Given the description of an element on the screen output the (x, y) to click on. 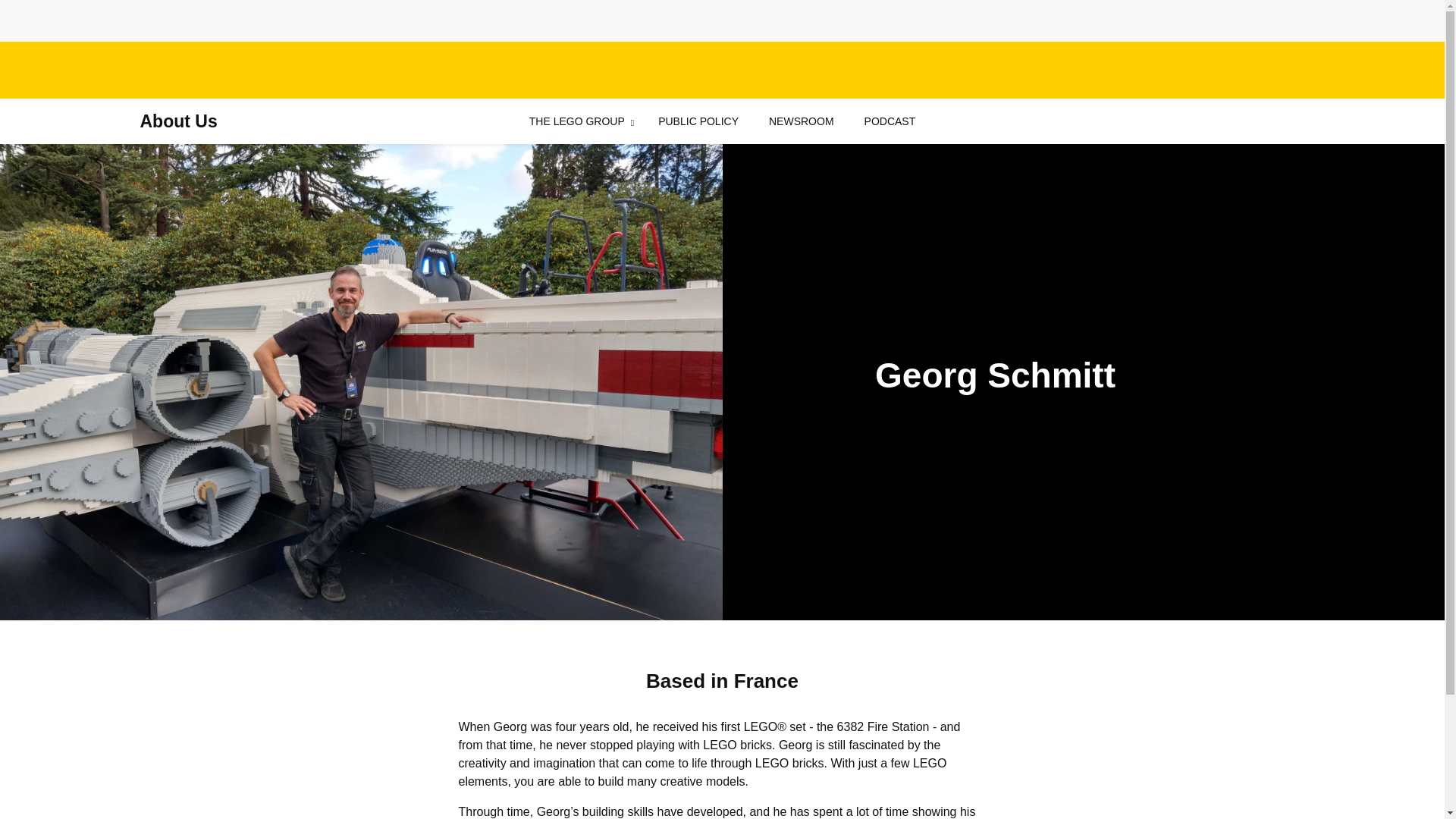
About Us (177, 120)
PUBLIC POLICY (698, 121)
THE LEGO GROUP (576, 121)
NEWSROOM (801, 121)
PODCAST (889, 121)
